Given the description of an element on the screen output the (x, y) to click on. 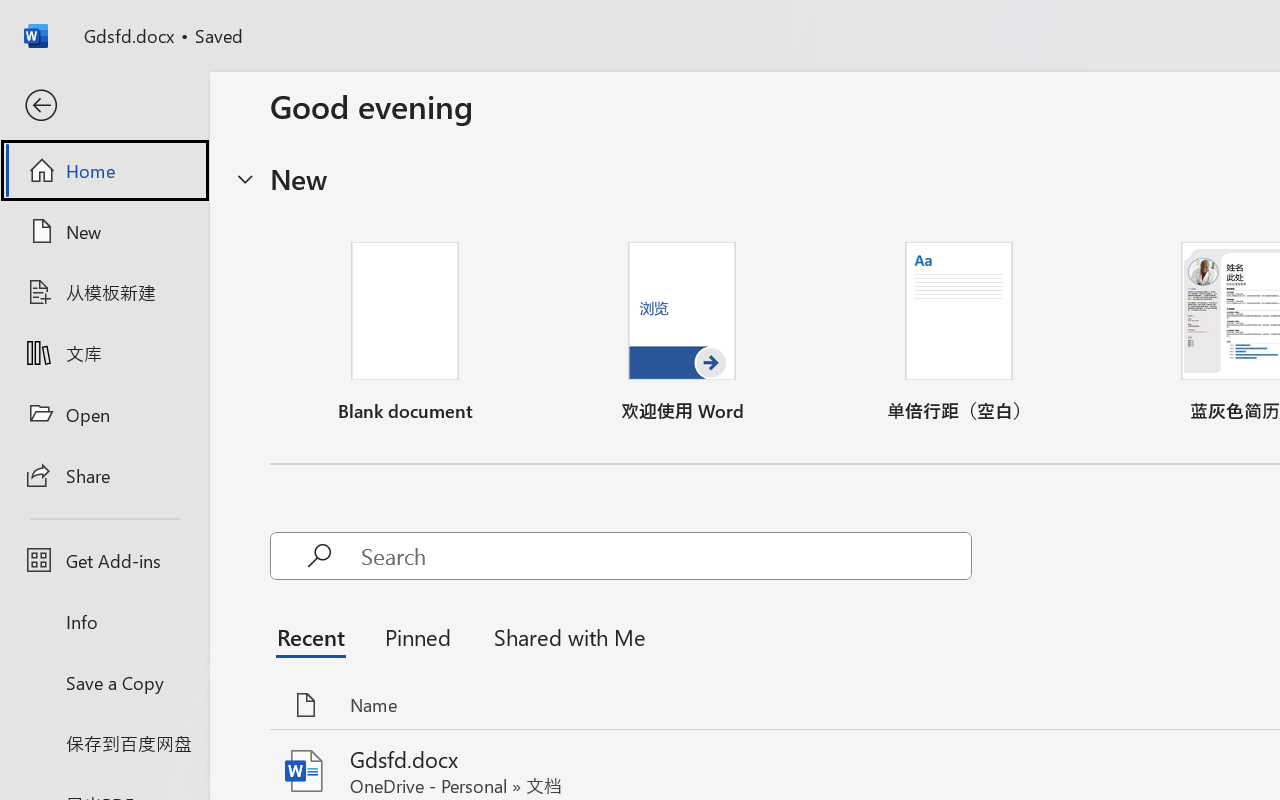
Title (346, 97)
Background Styles (610, 87)
Insert Layout (91, 114)
Hide Background Graphics (626, 112)
Format Background... (711, 168)
Effects (505, 138)
Footers (354, 132)
Slide Wisp Slide Master: used by slide(s) 1 (176, 288)
